Given the description of an element on the screen output the (x, y) to click on. 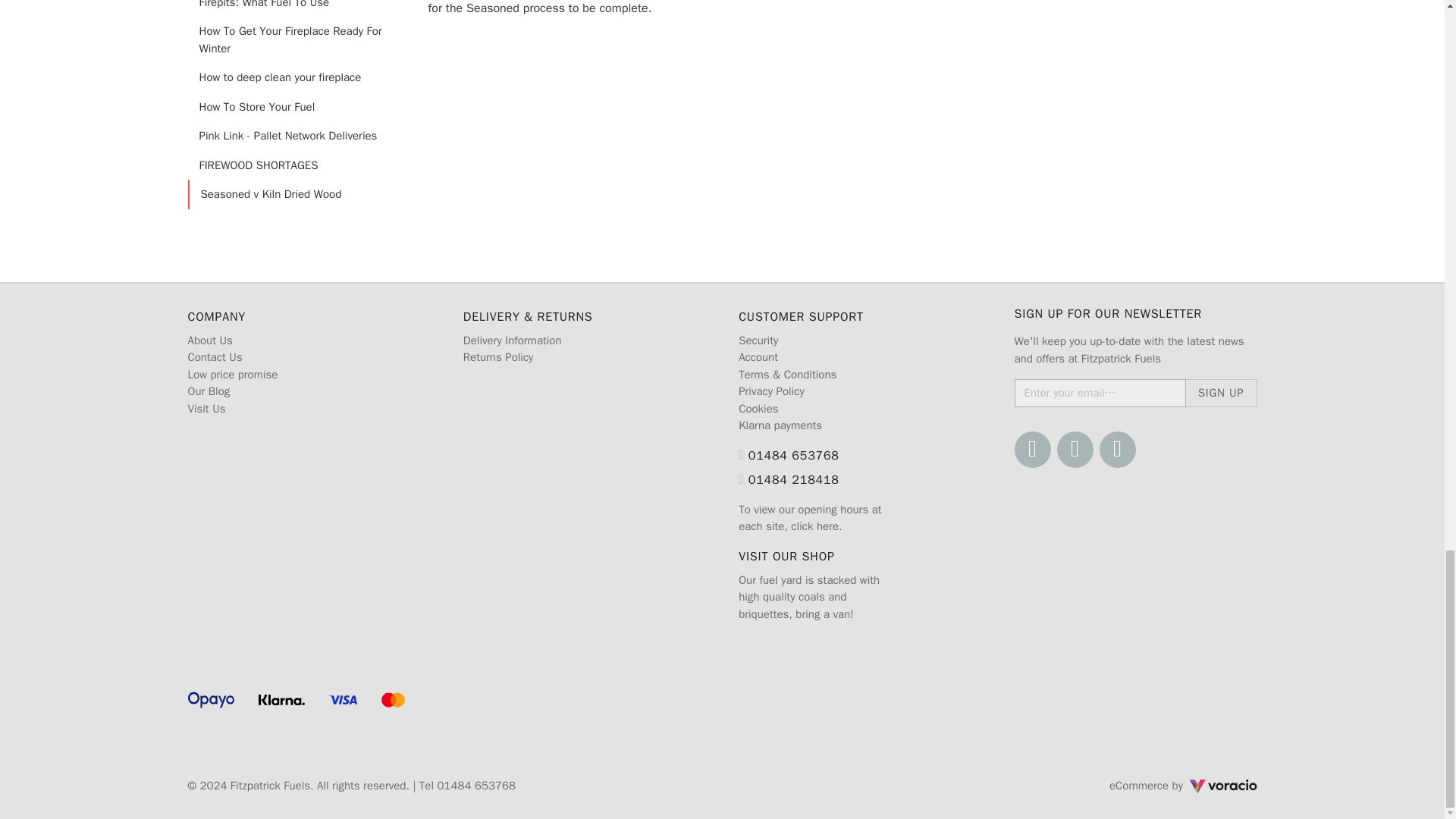
Visa (342, 699)
Opayo (210, 699)
Blog (1117, 449)
Facebook profile (1032, 449)
Klarna (281, 699)
Mastercard (393, 699)
Twitter profile (1075, 449)
